Given the description of an element on the screen output the (x, y) to click on. 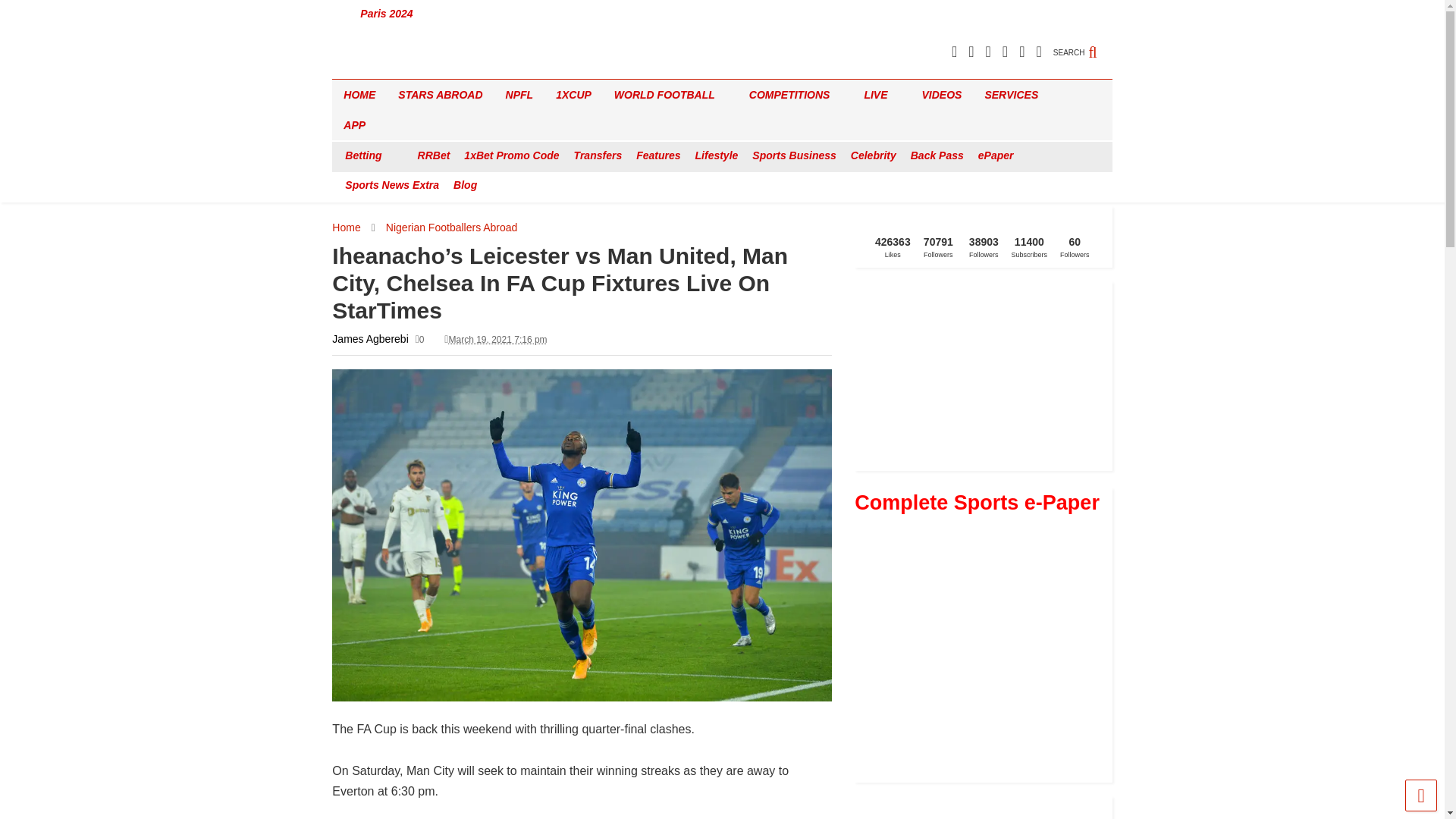
Paris 2024 (386, 13)
1XCUP (573, 94)
WORLD FOOTBALL (670, 94)
James Agberebi (369, 338)
LIVE (880, 94)
NPFL (519, 94)
VIDEOS (942, 94)
HOME (359, 94)
SERVICES (1016, 94)
COMPETITIONS (795, 94)
